Given the description of an element on the screen output the (x, y) to click on. 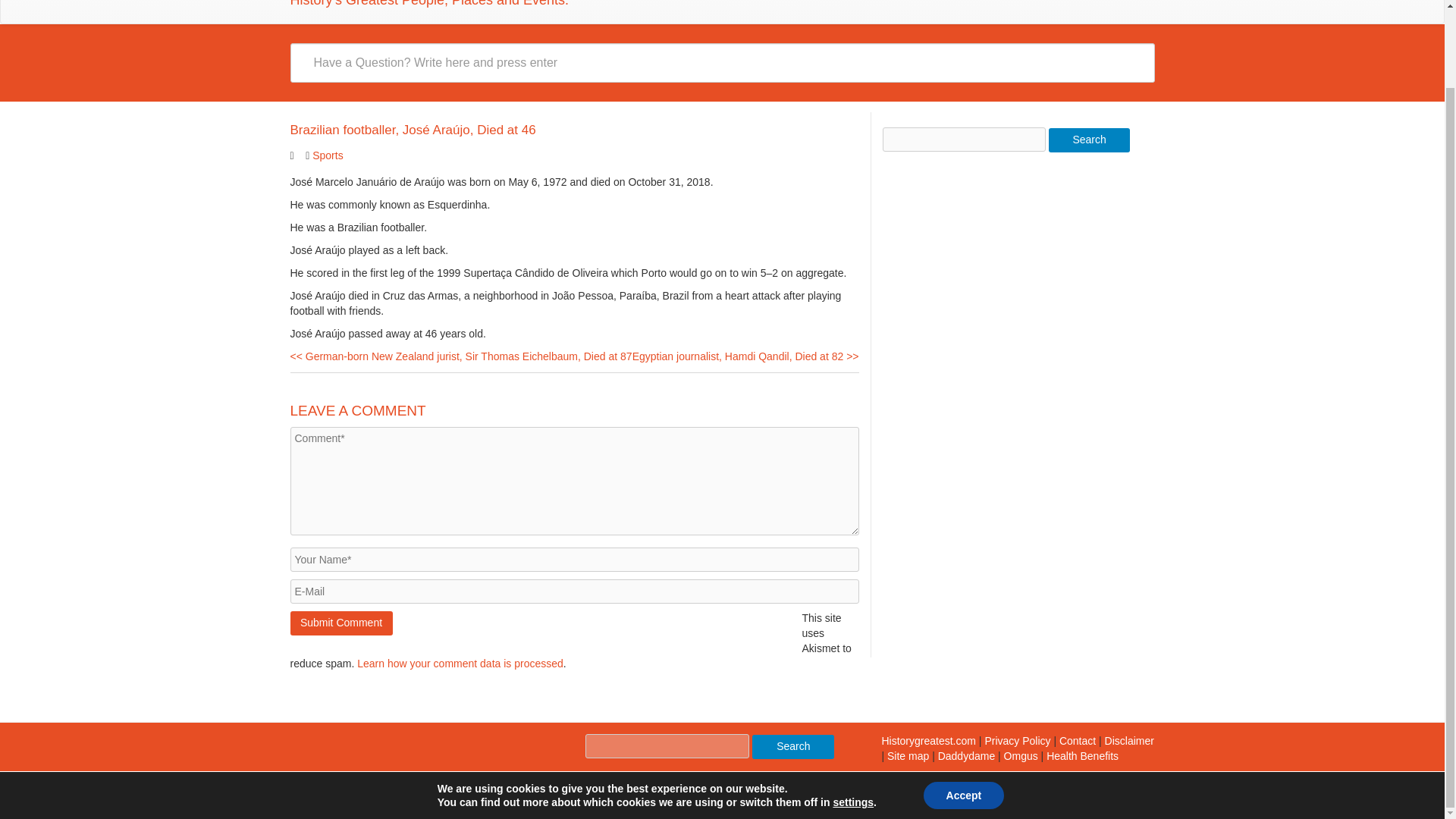
MyWiki WordPress Theme (411, 784)
Disclaimer (1129, 740)
Privacy Policy (1016, 740)
Search (793, 746)
Omgus (1021, 756)
Site map (907, 756)
Search (1089, 139)
Search (1089, 139)
Daddydame (966, 756)
Al Gore (1016, 740)
Search (793, 746)
settings (852, 714)
Health Benefits (1082, 756)
Sports (327, 155)
Accept (963, 707)
